Given the description of an element on the screen output the (x, y) to click on. 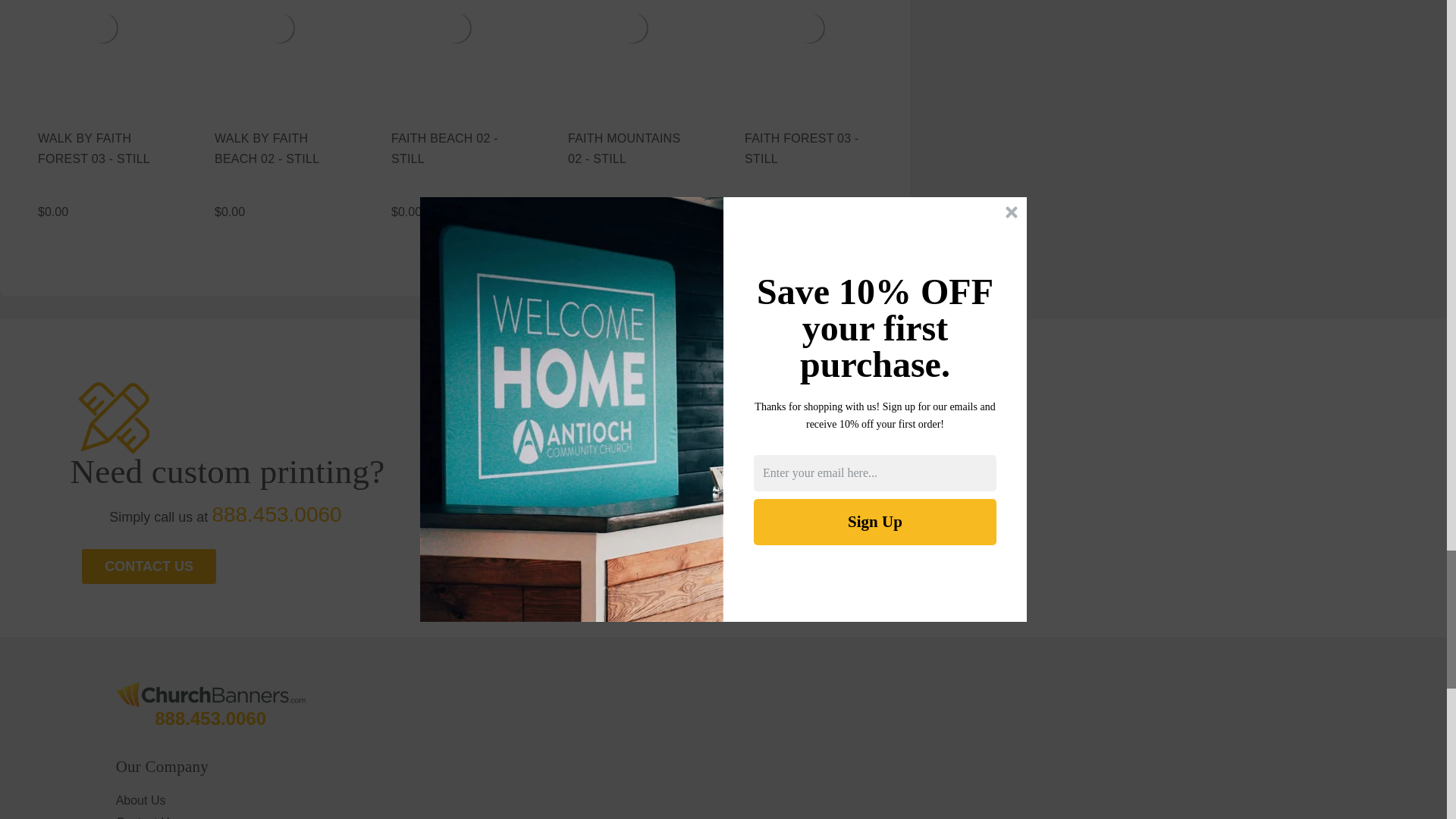
VIEW (455, 45)
VIEW (278, 147)
church media still (278, 27)
VIEW (455, 147)
VIEW (631, 147)
church media stills (455, 27)
church media still faith (101, 27)
VIEW (808, 147)
VIEW (808, 45)
VIEW (101, 45)
VIEW (631, 45)
church media still (631, 27)
ChurchBanners.com (210, 694)
VIEW (278, 45)
VIEW (101, 147)
